Given the description of an element on the screen output the (x, y) to click on. 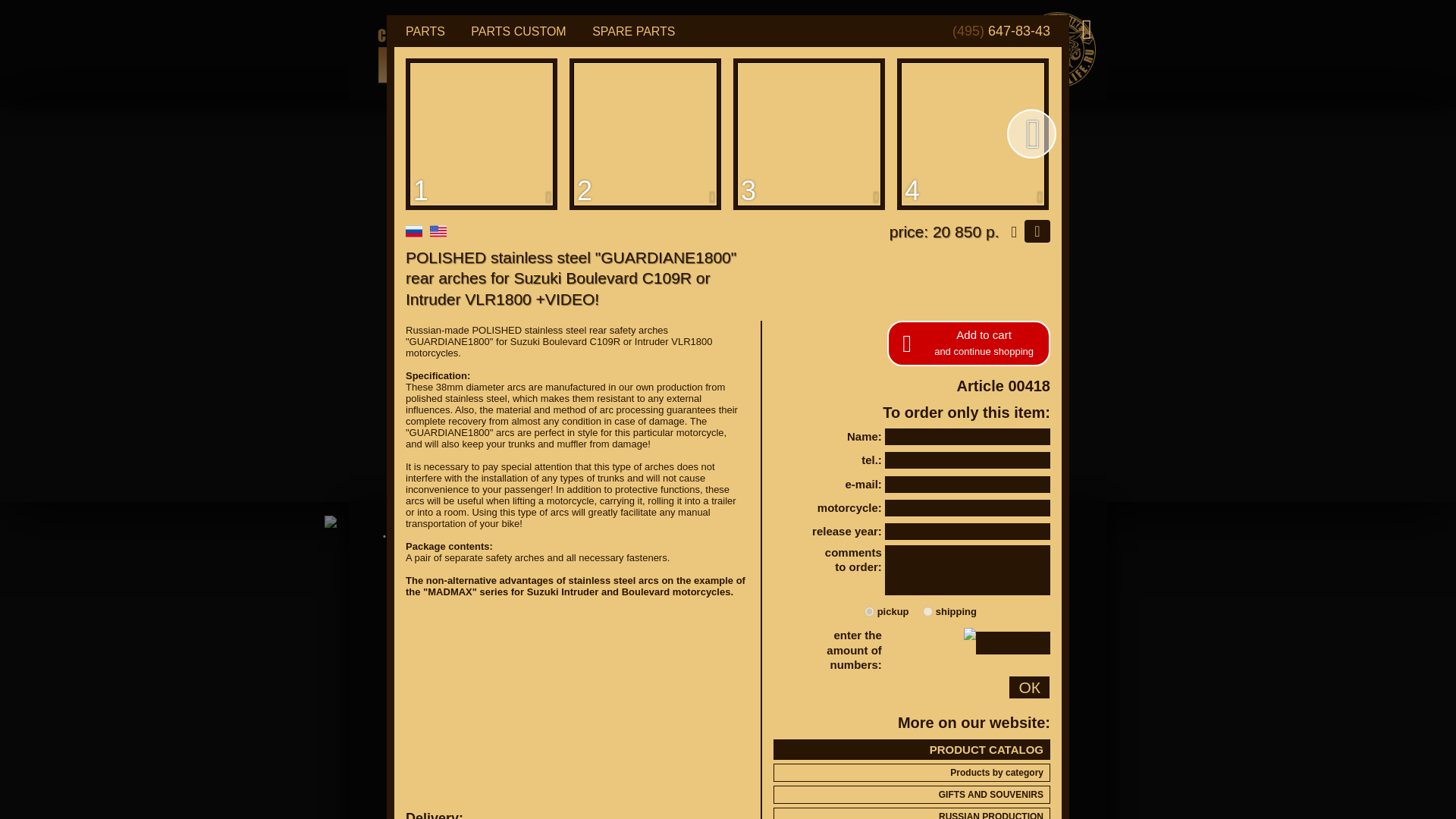
1 (481, 133)
RUSSIAN PRODUCTION (911, 813)
YouTube video player (572, 702)
PARTS CUSTOM (518, 31)
POLISHED stainless steel  (972, 133)
POLISHED stainless steel  (644, 133)
SPARE PARTS (633, 31)
POLISHED stainless steel  (481, 133)
4 (972, 133)
GIFTS AND SOUVENIRS (911, 794)
